Given the description of an element on the screen output the (x, y) to click on. 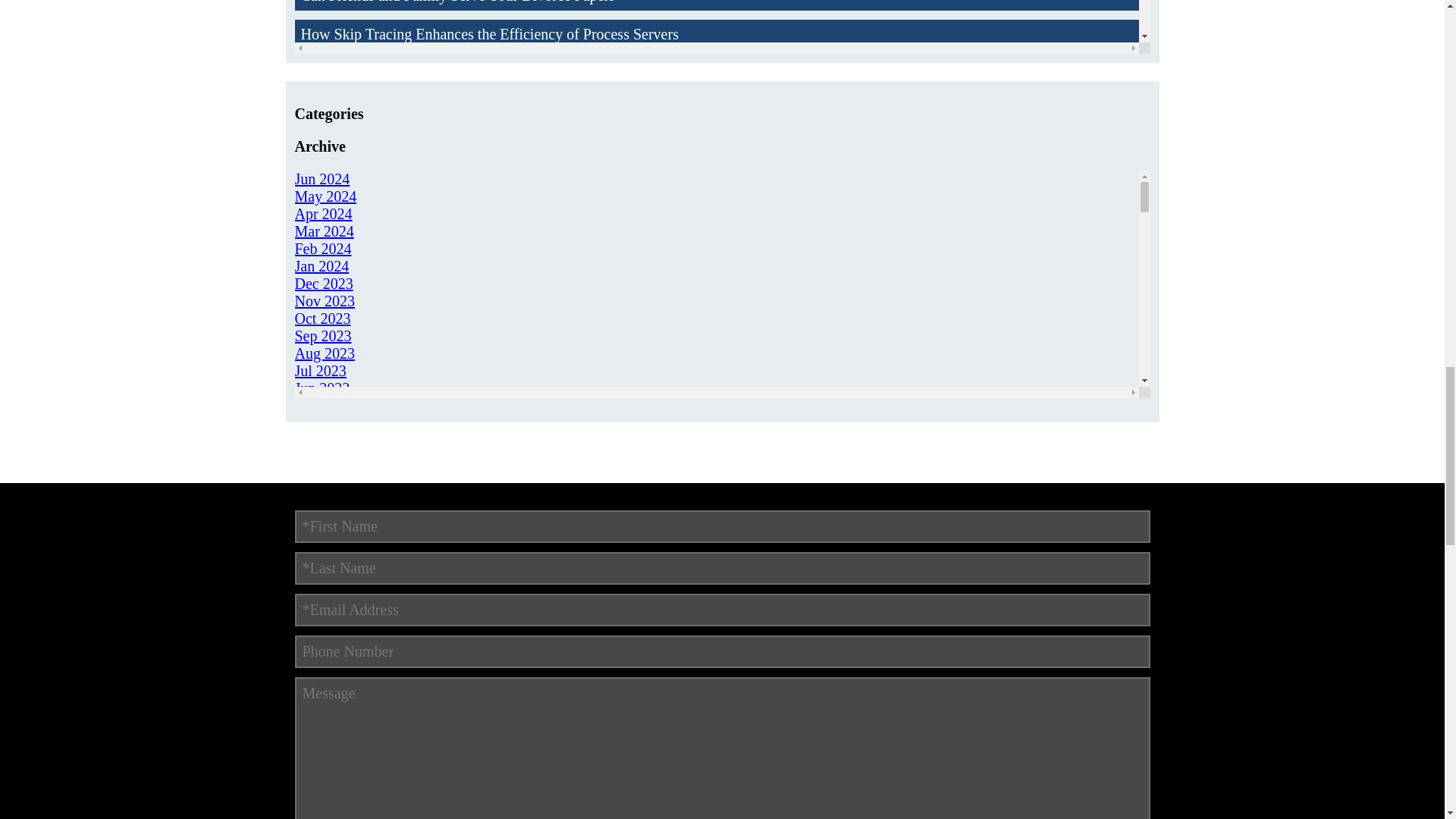
Can You Serve Your Own Divorce Papers? (716, 305)
Who Benefit from Skip Tracing the Most (716, 266)
How Skip Tracing Enhances the Efficiency of Process Servers (716, 34)
Unveiling the Complex World of Financial Investigations (716, 111)
How to Hire a Trustworthy Process Server (716, 188)
When to Get a Financial Investigation (716, 227)
Understanding Service Definitions (716, 150)
Can Friends and Family Serve Your Divorce Papers (716, 5)
